Given the description of an element on the screen output the (x, y) to click on. 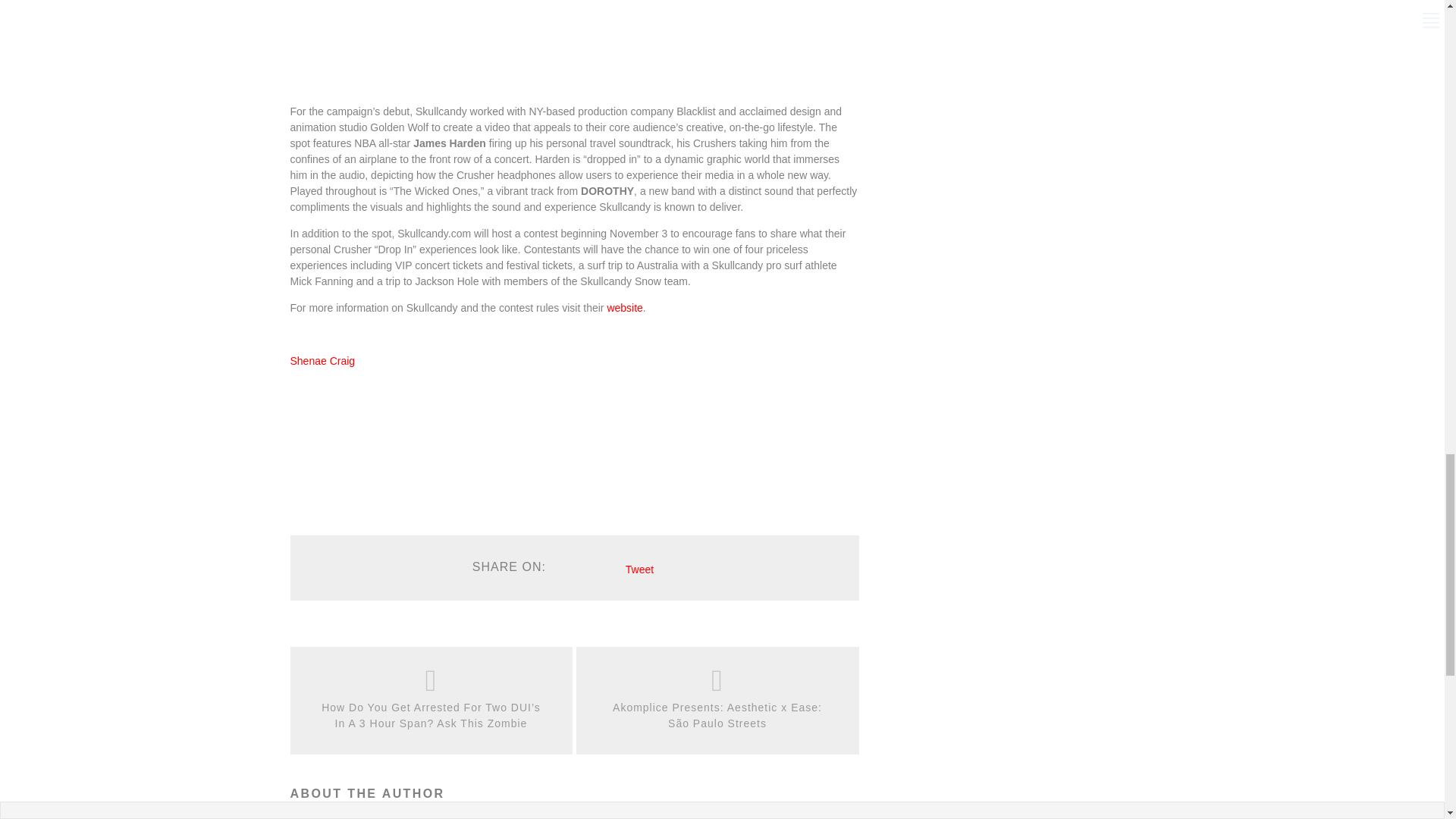
website (624, 307)
Tweet (639, 569)
Shenae Craig (322, 360)
